Given the description of an element on the screen output the (x, y) to click on. 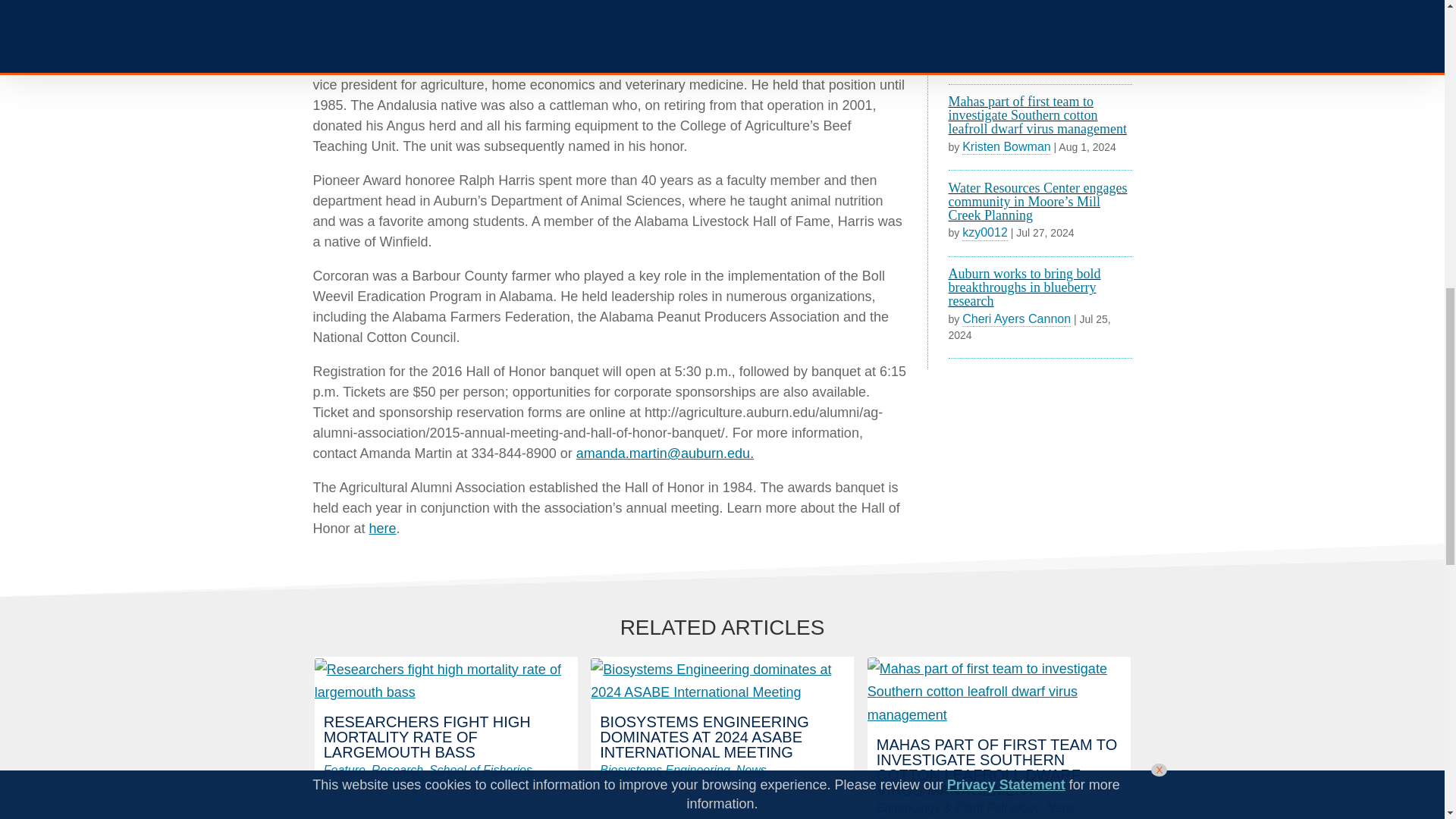
Posts by agwpadmin (993, 60)
Posts by kzy0012 (984, 232)
Posts by Kristen Bowman (1006, 146)
Posts by Cheri Ayers Cannon (1016, 319)
